Given the description of an element on the screen output the (x, y) to click on. 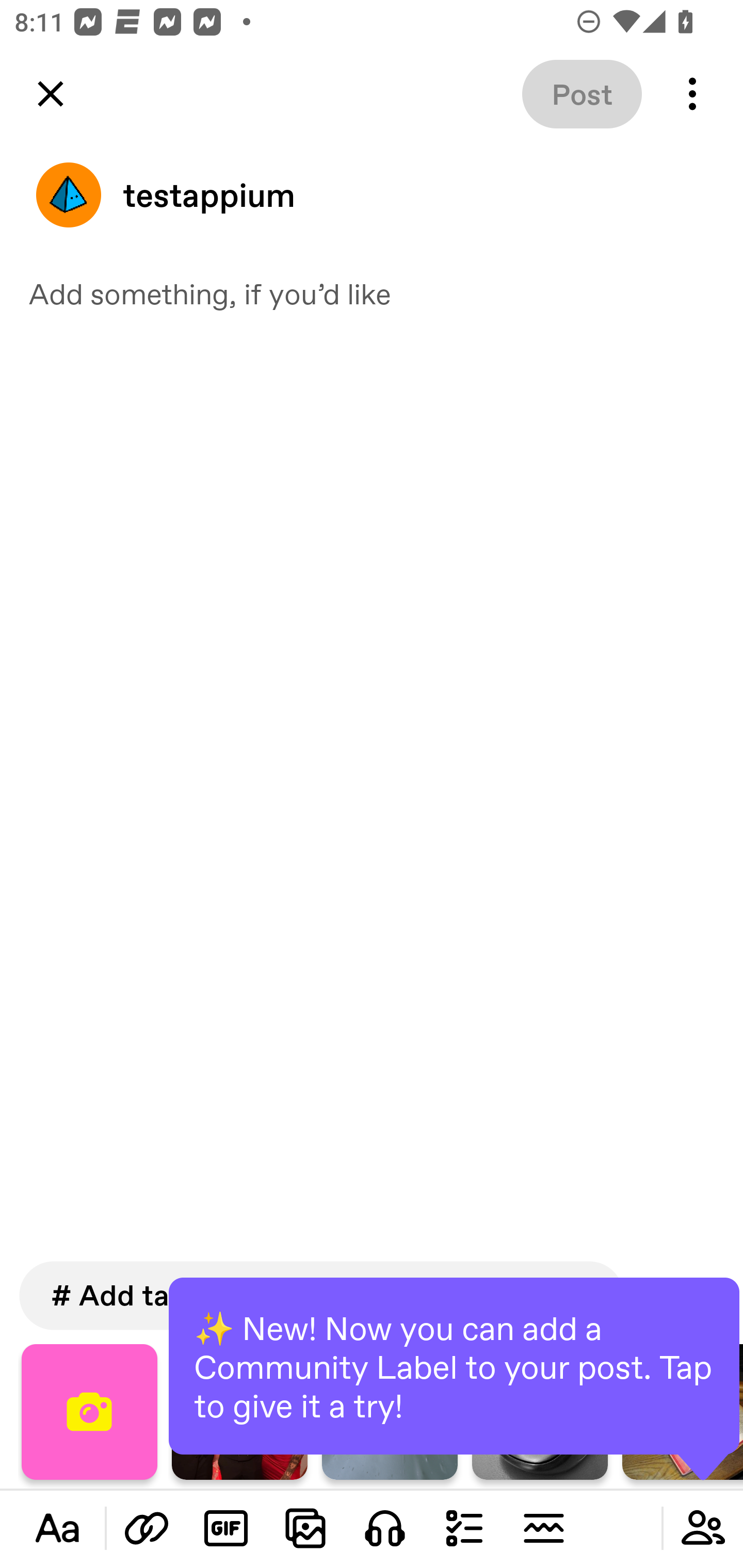
Navigate up (50, 93)
Post (581, 93)
Blog Selector testappium (371, 195)
Add something, if you’d like (371, 293)
Add text to post (57, 1528)
Add text to post (146, 1528)
Add GIF to post (225, 1528)
Add Photo to post (305, 1528)
Add Audio to post (384, 1528)
Add Poll to post (463, 1528)
Add read-more link to post (543, 1528)
Add community label for post (703, 1528)
